Given the description of an element on the screen output the (x, y) to click on. 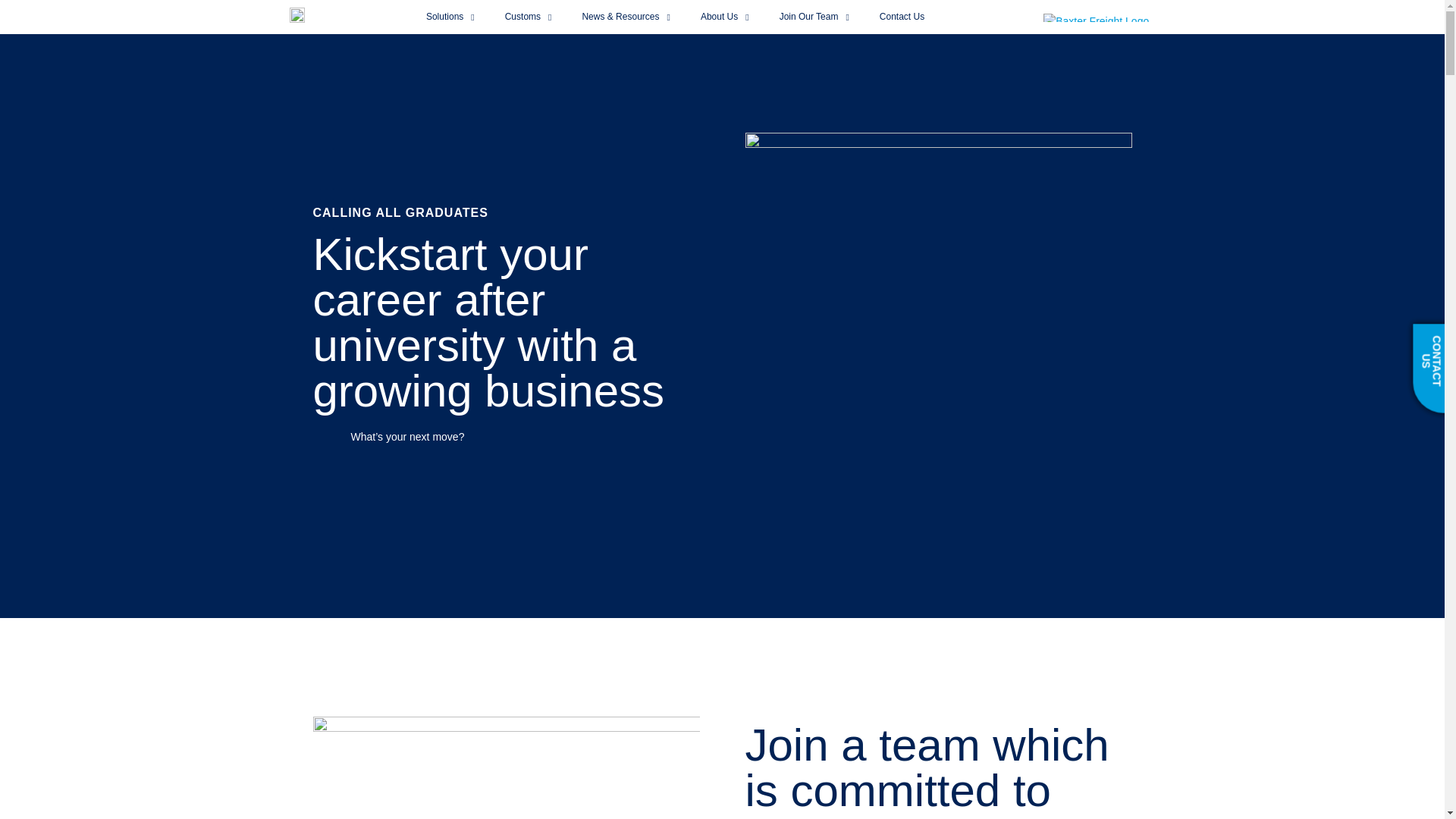
Customs (528, 16)
Contact Us (901, 16)
Solutions (449, 16)
Join Our Team (814, 16)
About Us (724, 16)
